Given the description of an element on the screen output the (x, y) to click on. 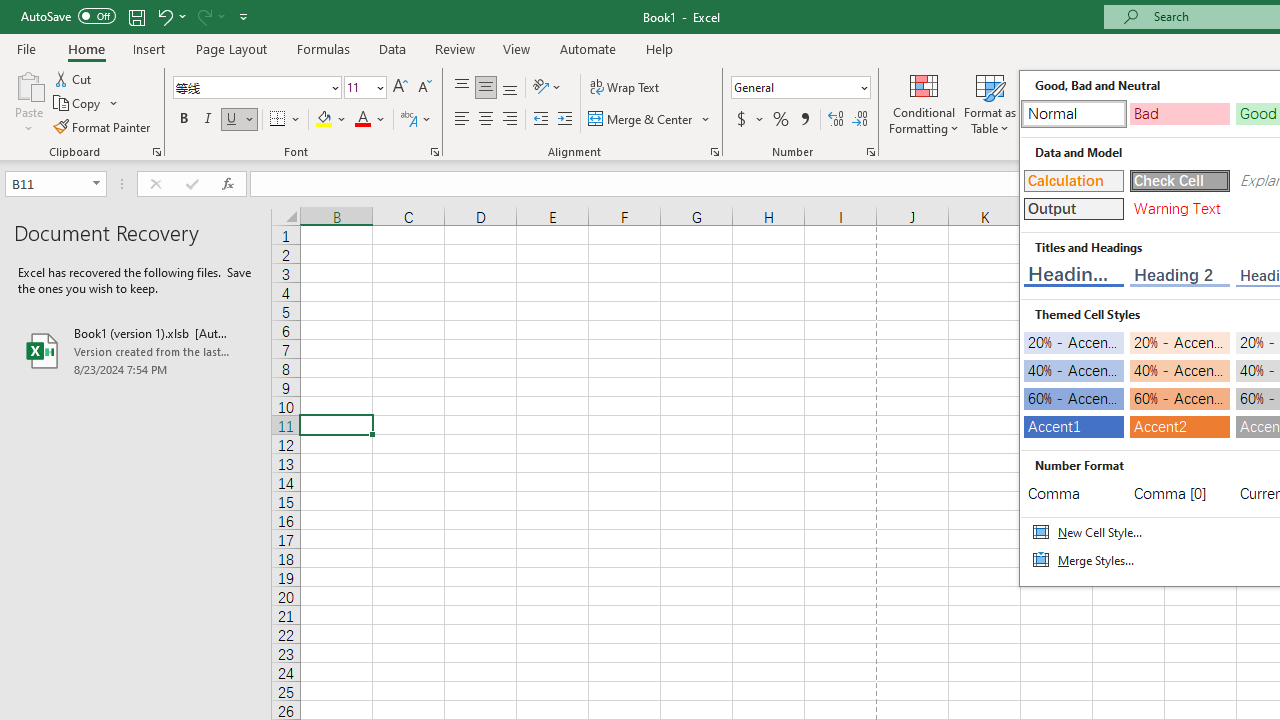
Align Left (461, 119)
Underline (239, 119)
Font Size (365, 87)
Fill Color (331, 119)
Comma Style (804, 119)
Increase Decimal (836, 119)
Accounting Number Format (741, 119)
Paste (28, 102)
Font Color RGB(255, 0, 0) (362, 119)
Format Painter (103, 126)
Wrap Text (624, 87)
